Given the description of an element on the screen output the (x, y) to click on. 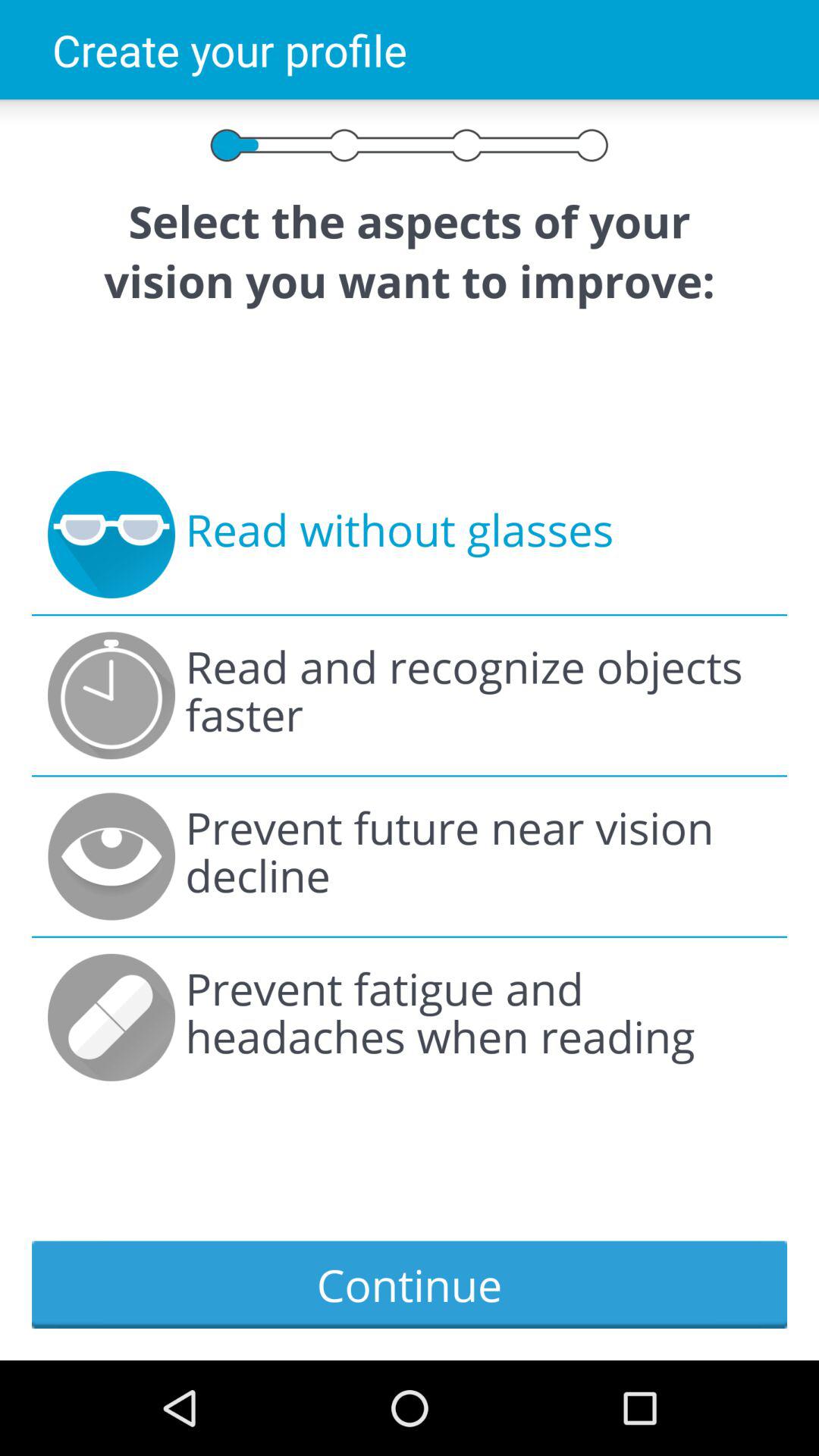
swipe to the read and recognize (478, 695)
